Given the description of an element on the screen output the (x, y) to click on. 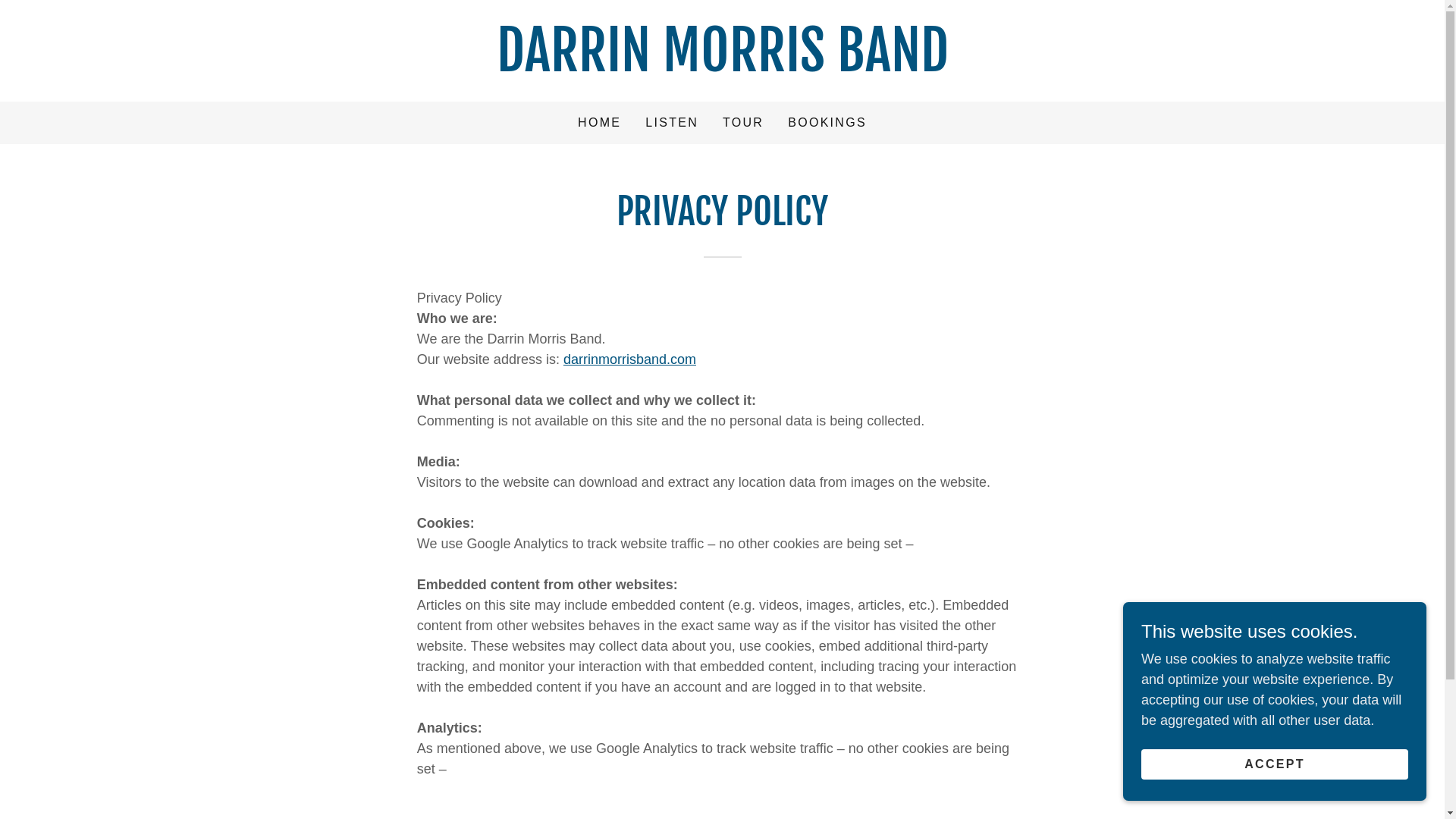
TOUR Element type: text (743, 122)
darrinmorrisband.com Element type: text (629, 359)
LISTEN Element type: text (671, 122)
HOME Element type: text (599, 122)
ACCEPT Element type: text (1274, 764)
DARRIN MORRIS BAND Element type: text (721, 66)
BOOKINGS Element type: text (827, 122)
